Given the description of an element on the screen output the (x, y) to click on. 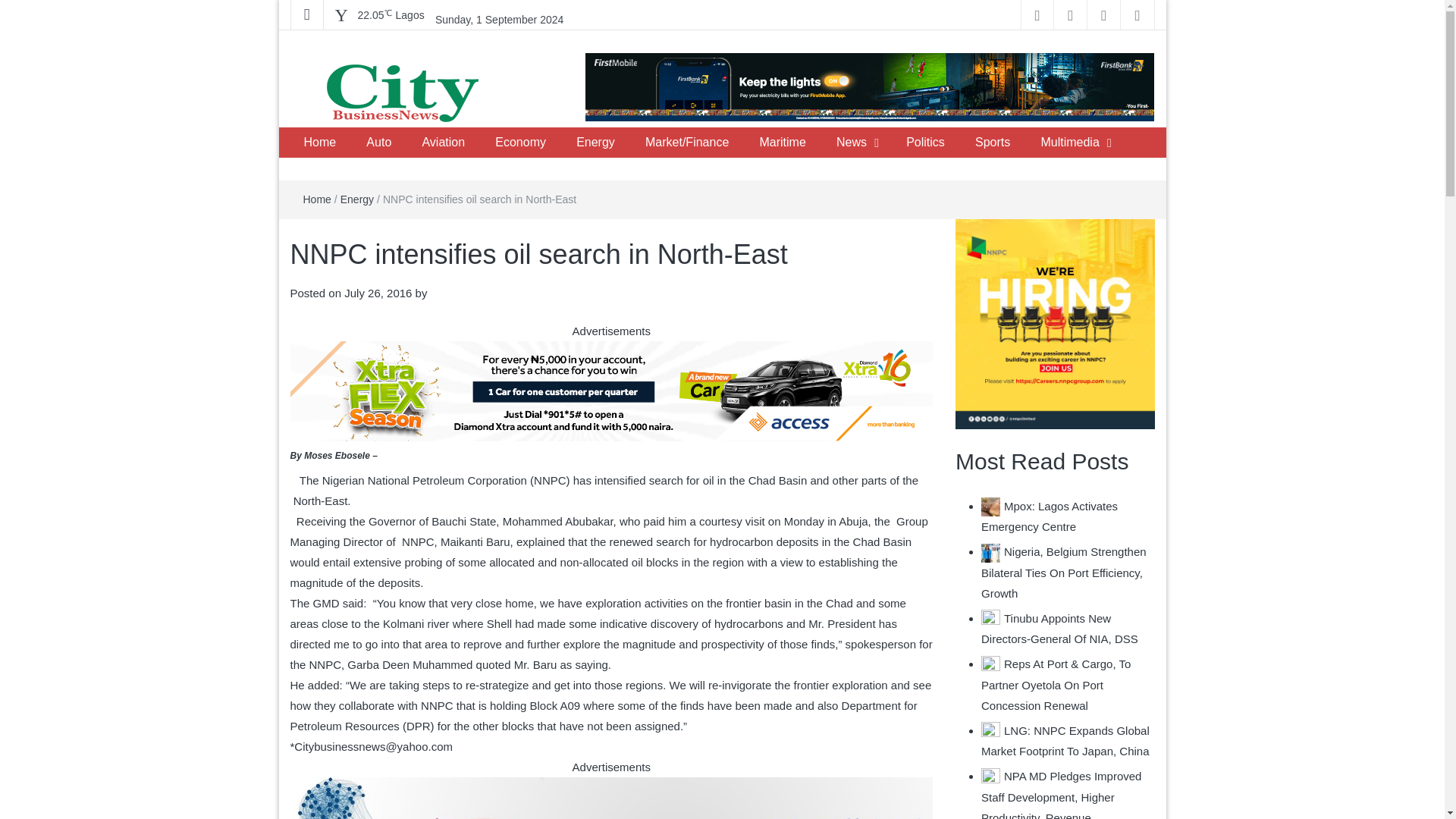
Auto (378, 142)
City Business News (410, 142)
Energy (595, 142)
Economy (520, 142)
Clouds (391, 14)
Home (319, 142)
Maritime (781, 142)
News (851, 142)
Aviation (443, 142)
